Given the description of an element on the screen output the (x, y) to click on. 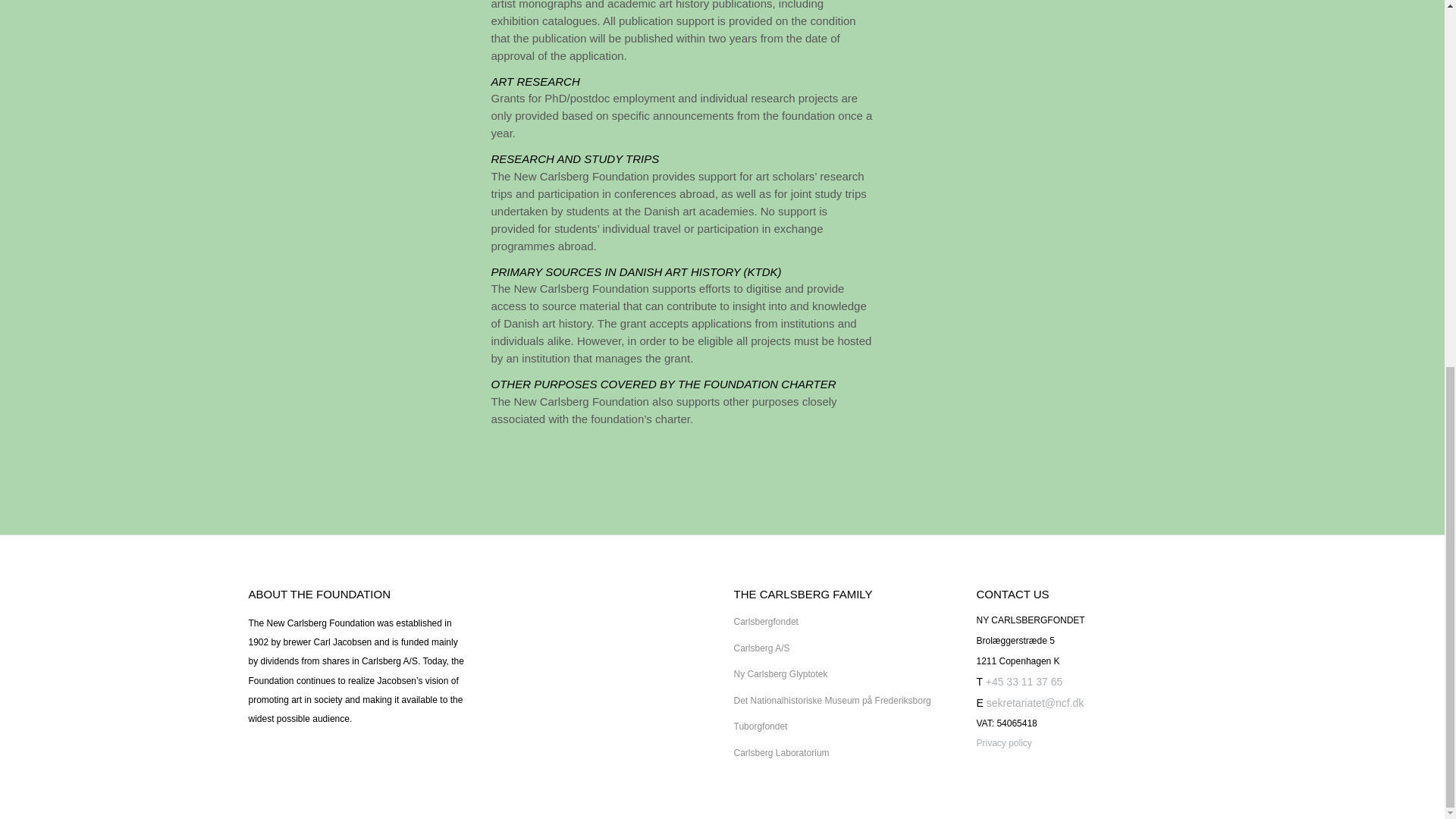
Research and study trips (575, 158)
Databeskyttelsespolitik NCF EN (1004, 742)
Art Research (535, 81)
Primary Sources in Danish Art History (636, 271)
Other purposes covered by the foundation charter (663, 383)
